Given the description of an element on the screen output the (x, y) to click on. 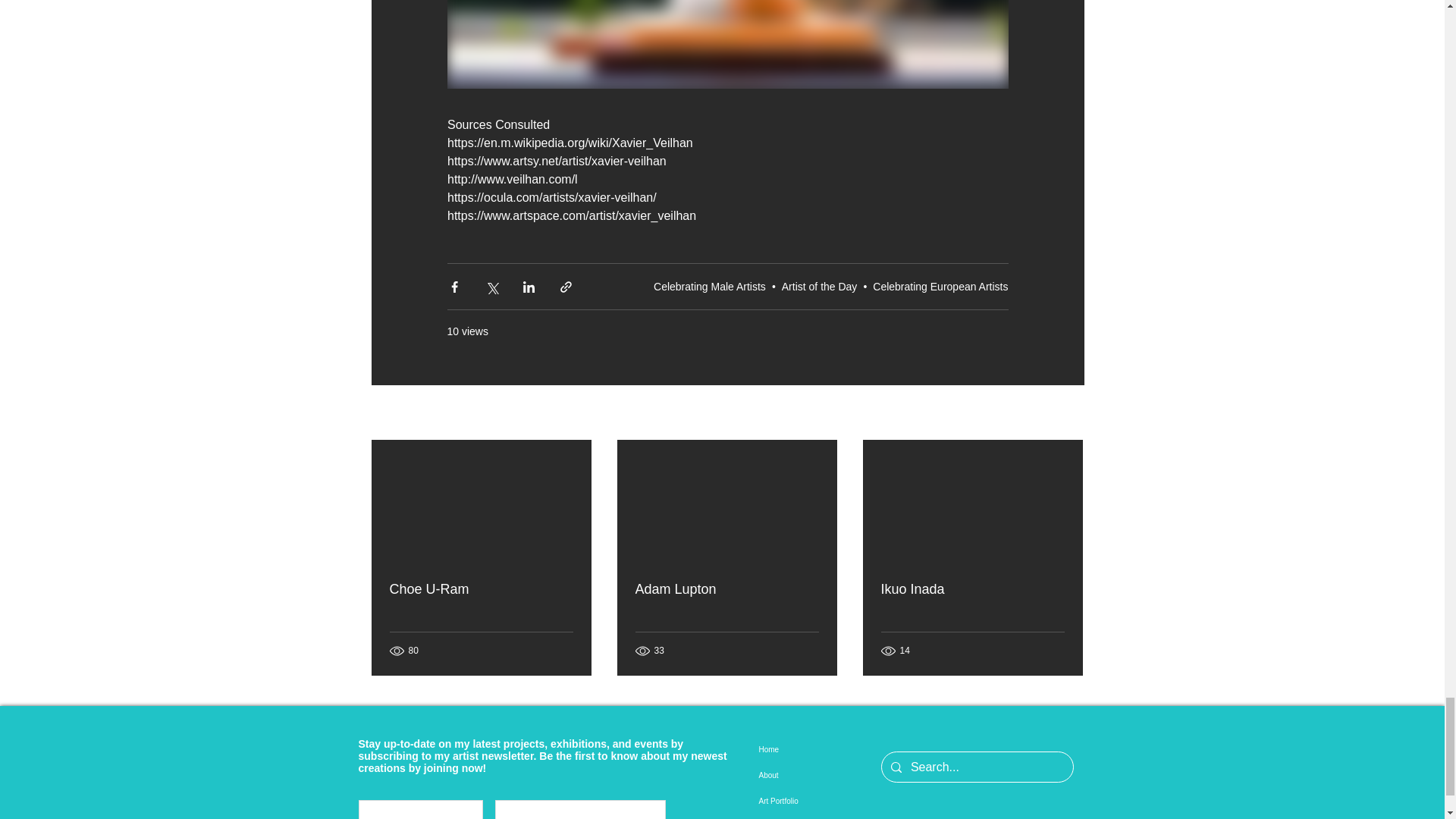
Celebrating Male Artists (709, 286)
